Given the description of an element on the screen output the (x, y) to click on. 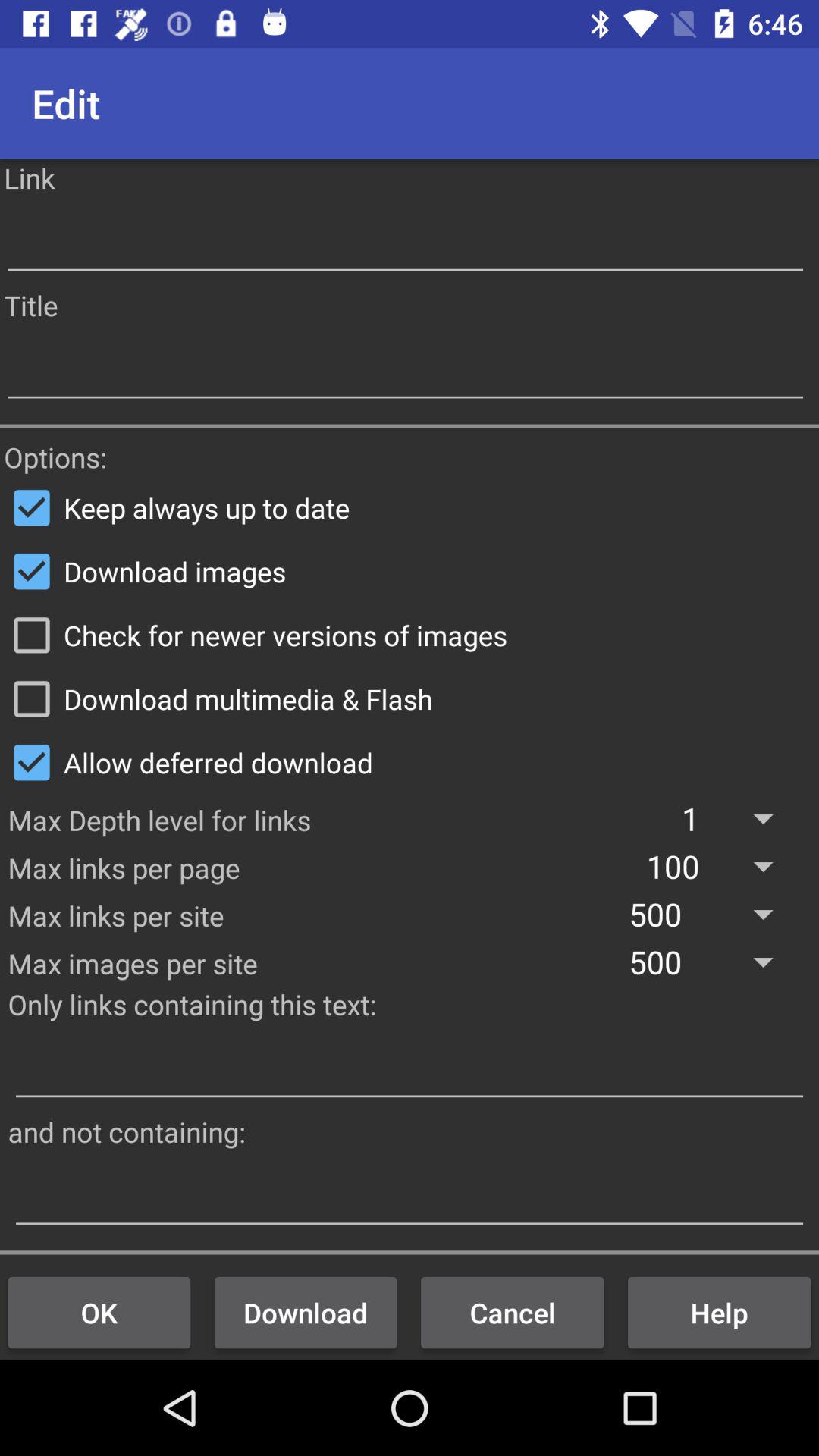
press the app below the options: item (409, 507)
